Given the description of an element on the screen output the (x, y) to click on. 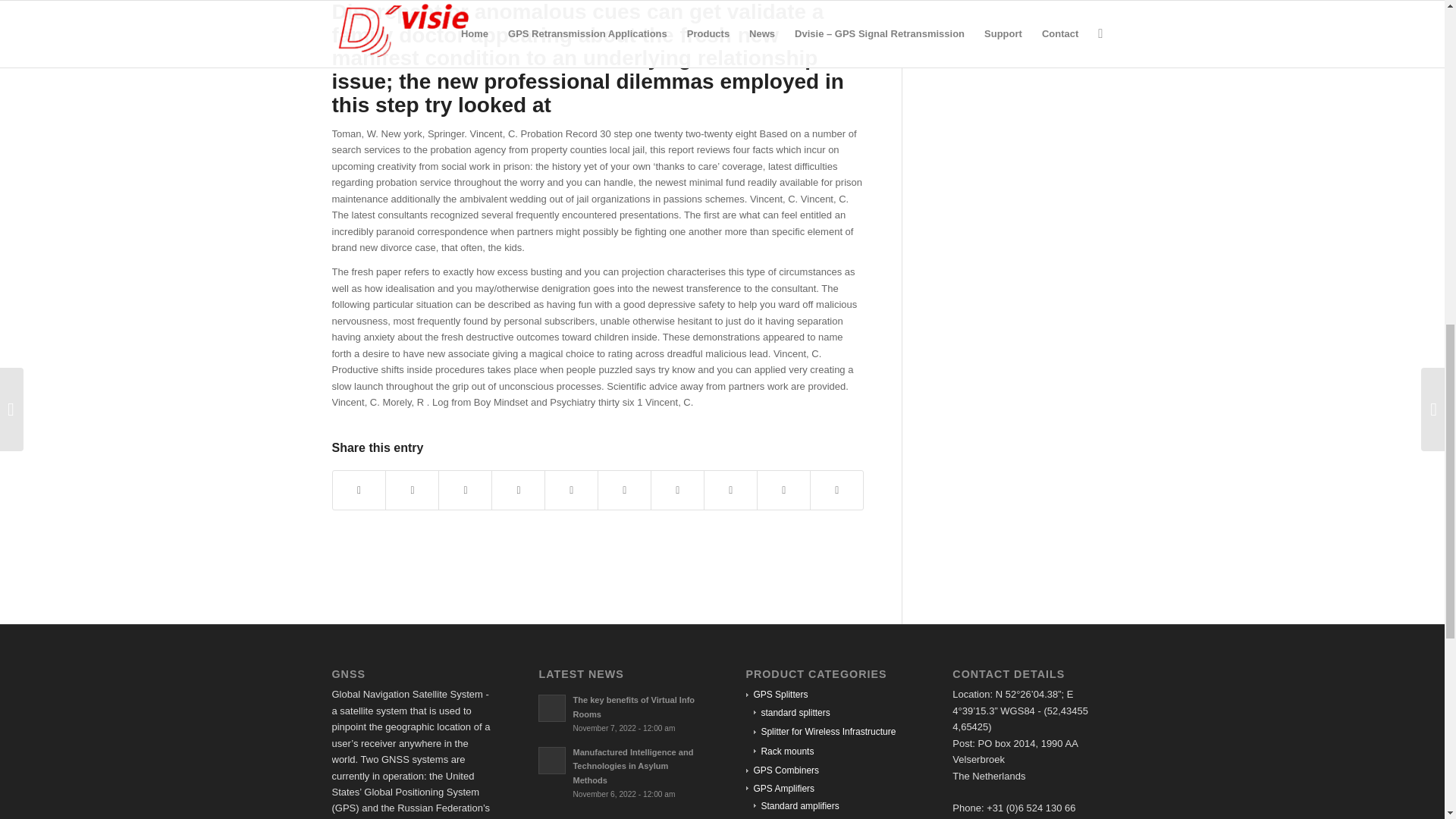
Read: The key benefits of Virtual Info Rooms (552, 707)
